Given the description of an element on the screen output the (x, y) to click on. 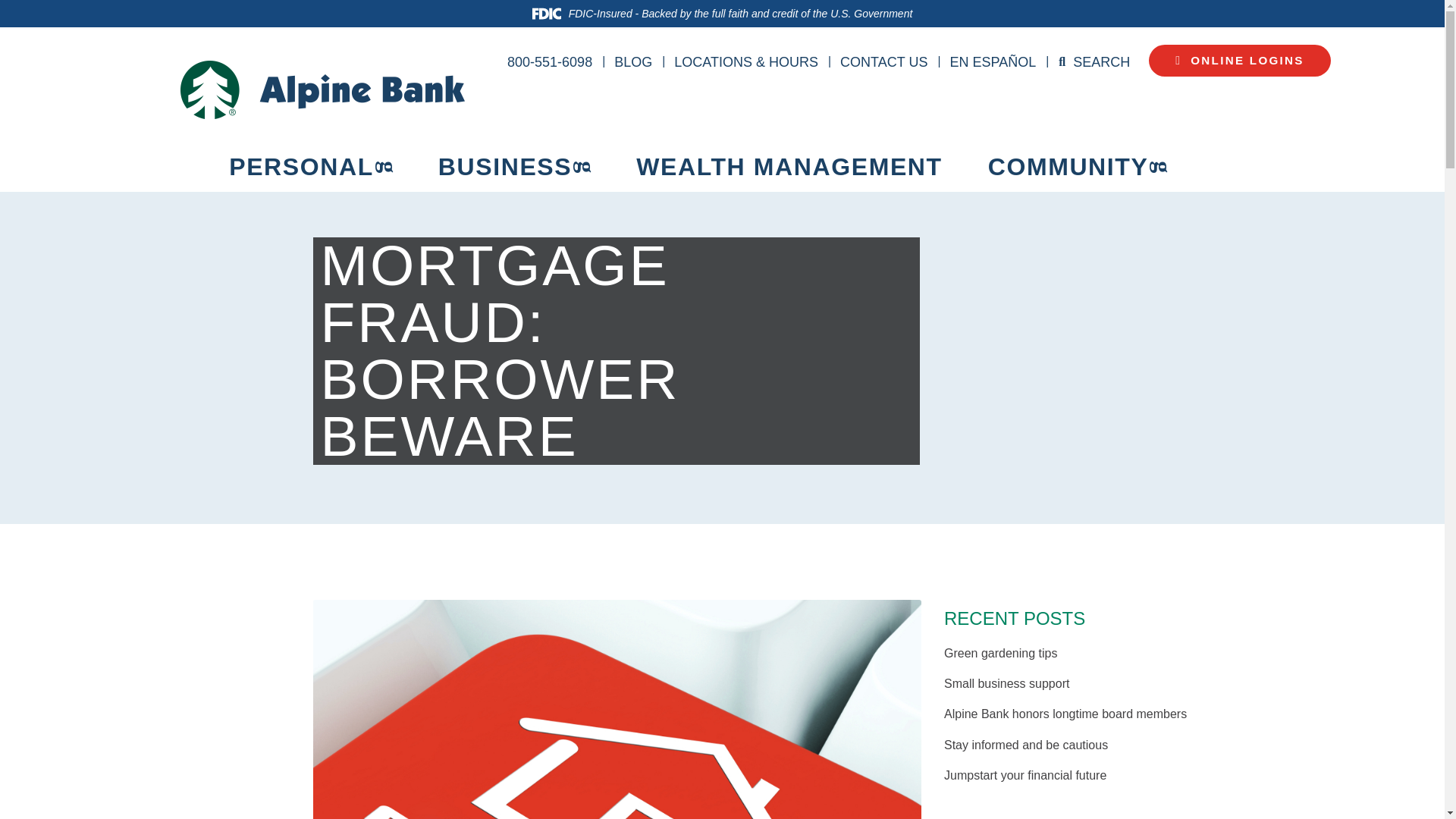
BLOG (633, 61)
WEALTH MANAGEMENT (788, 166)
Go (18, 15)
ONLINE LOGINS (1239, 60)
CONTACT US (883, 61)
Online Logins (1239, 60)
SEARCH (1101, 61)
BUSINESS (514, 166)
COMMUNITY (1077, 166)
800-551-6098 (549, 61)
PERSONAL (310, 166)
